Given the description of an element on the screen output the (x, y) to click on. 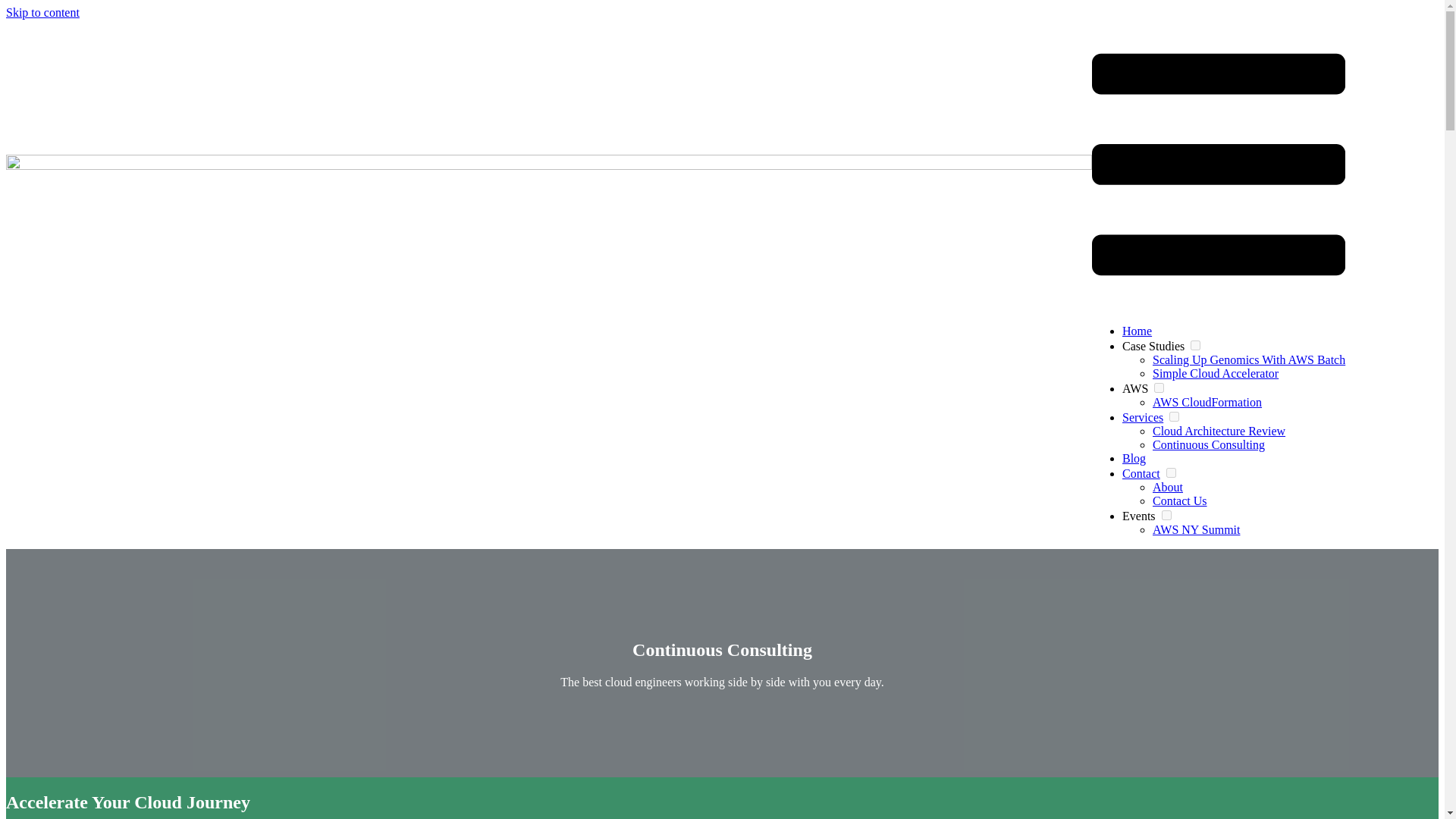
on (1174, 416)
Contact (1141, 472)
Case Studies (1153, 345)
on (1195, 345)
AWS NY Summit (1196, 529)
on (1158, 388)
Skip to content (42, 11)
Cloud Architecture Review (1219, 431)
AWS (1135, 388)
Simple Cloud Accelerator (1215, 373)
AWS CloudFormation (1207, 401)
Services (1142, 417)
on (1166, 515)
Scaling Up Genomics With AWS Batch (1249, 359)
on (1171, 472)
